Given the description of an element on the screen output the (x, y) to click on. 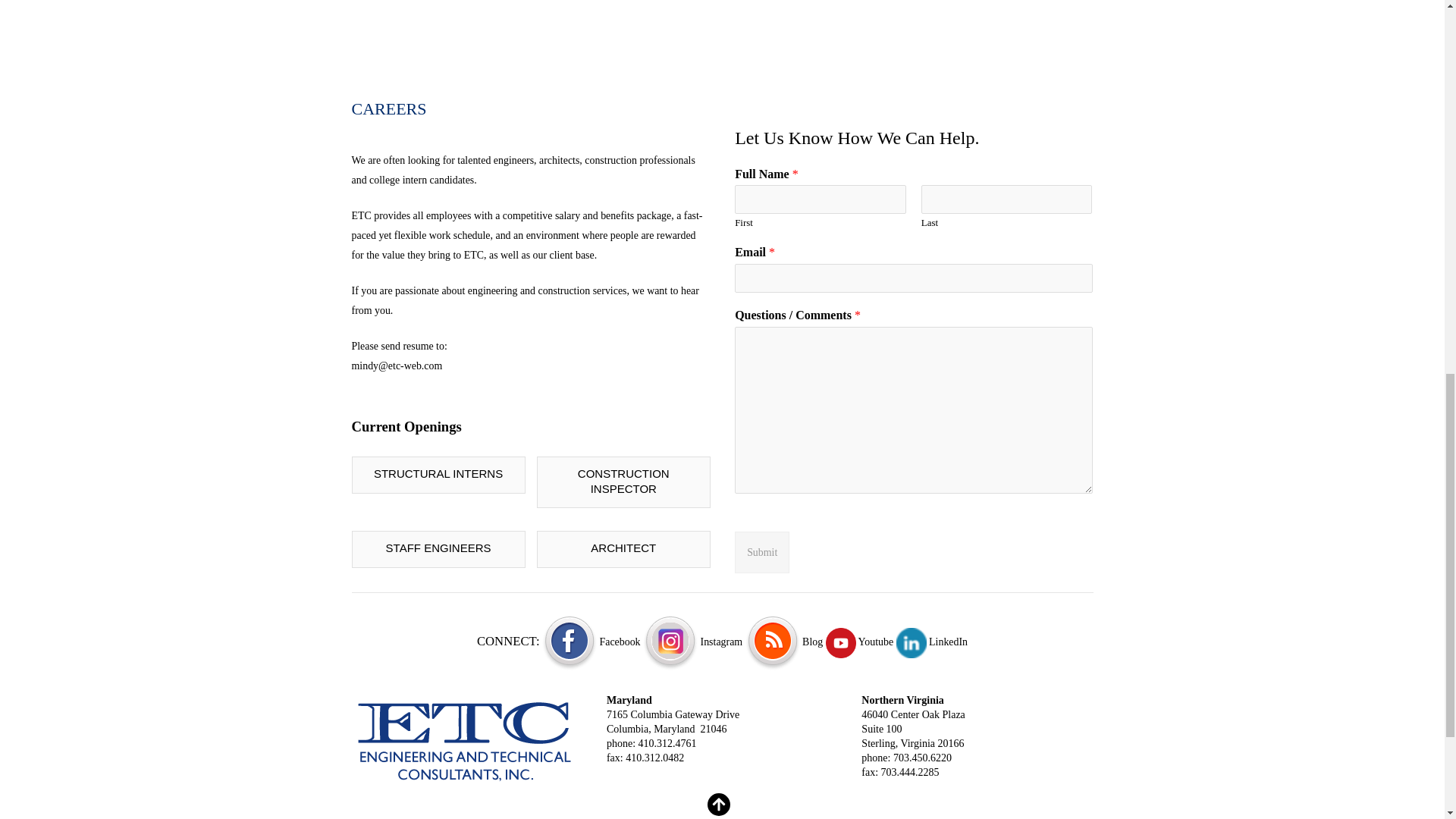
Blog (784, 641)
Contact Us (465, 739)
LinkedIn (932, 641)
Facebook (590, 641)
Instagram (692, 641)
Youtube Channel (859, 641)
